Given the description of an element on the screen output the (x, y) to click on. 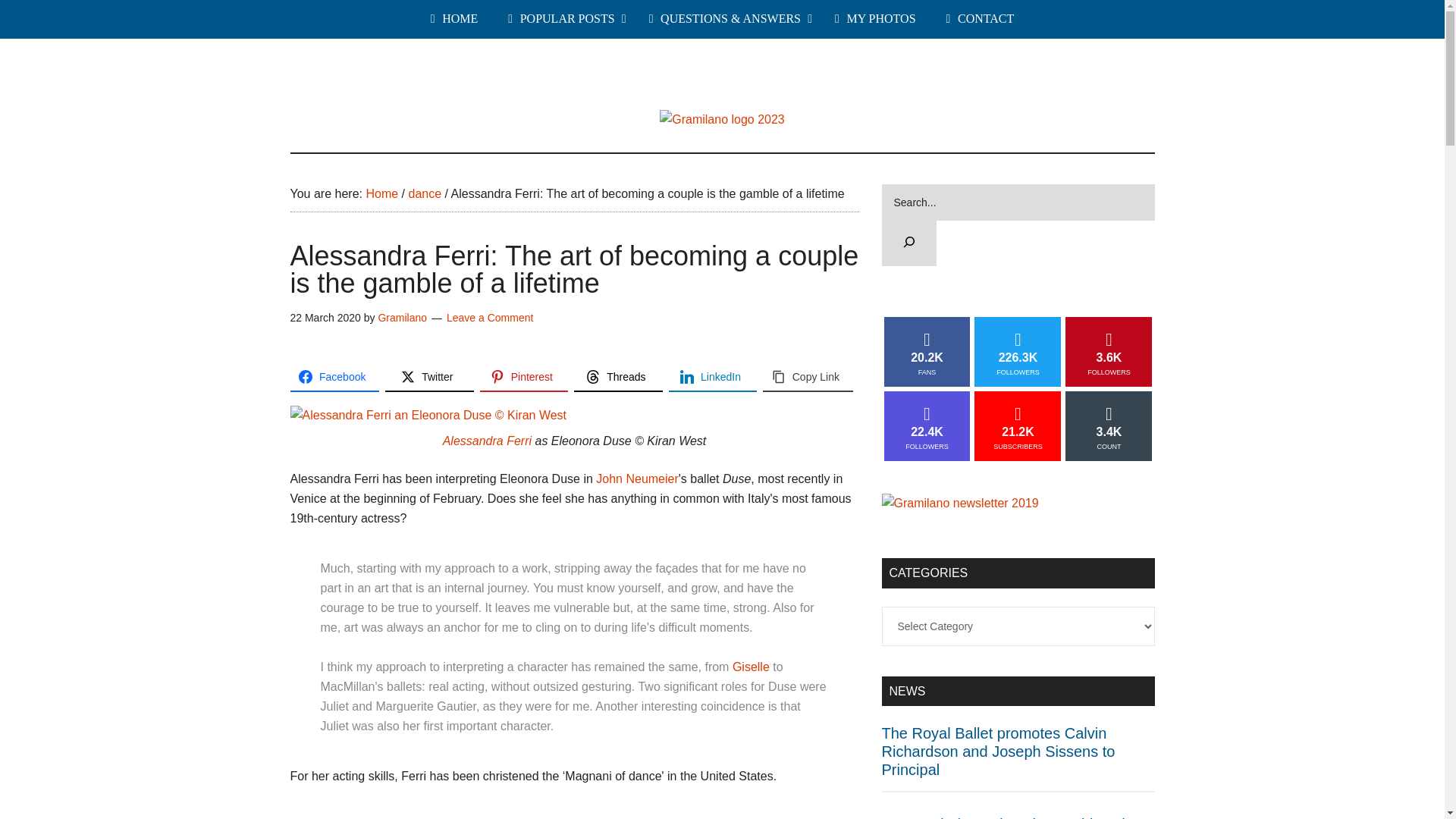
Pinterest (524, 377)
Posts tagged with John Neumeier (636, 478)
Giselle (751, 666)
Share on Threads (617, 377)
Share on Pinterest (524, 377)
John Neumeier (636, 478)
HOME (453, 19)
Share on LinkedIn (712, 377)
Leave a Comment (489, 317)
